Given the description of an element on the screen output the (x, y) to click on. 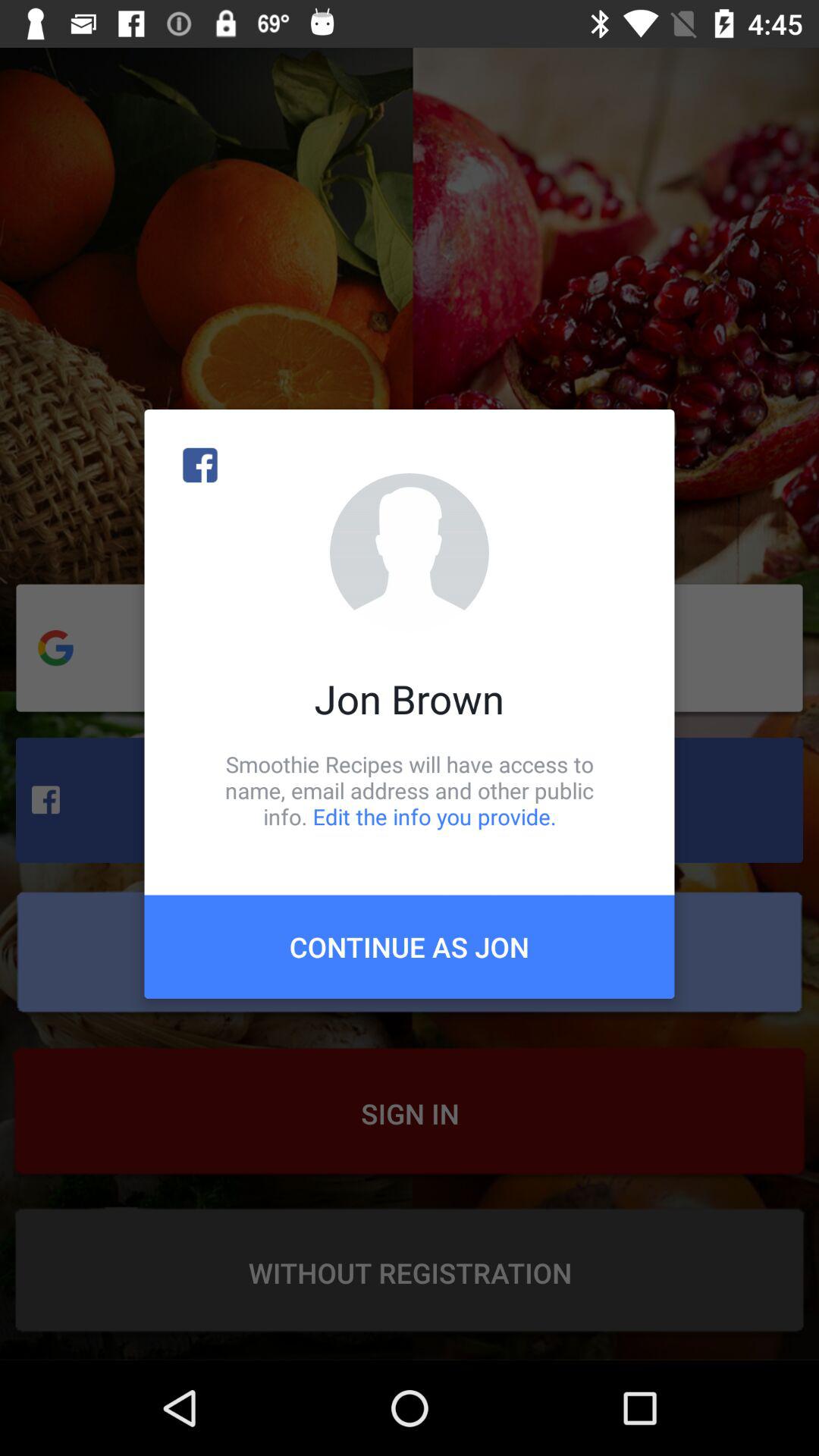
swipe to continue as jon item (409, 946)
